Given the description of an element on the screen output the (x, y) to click on. 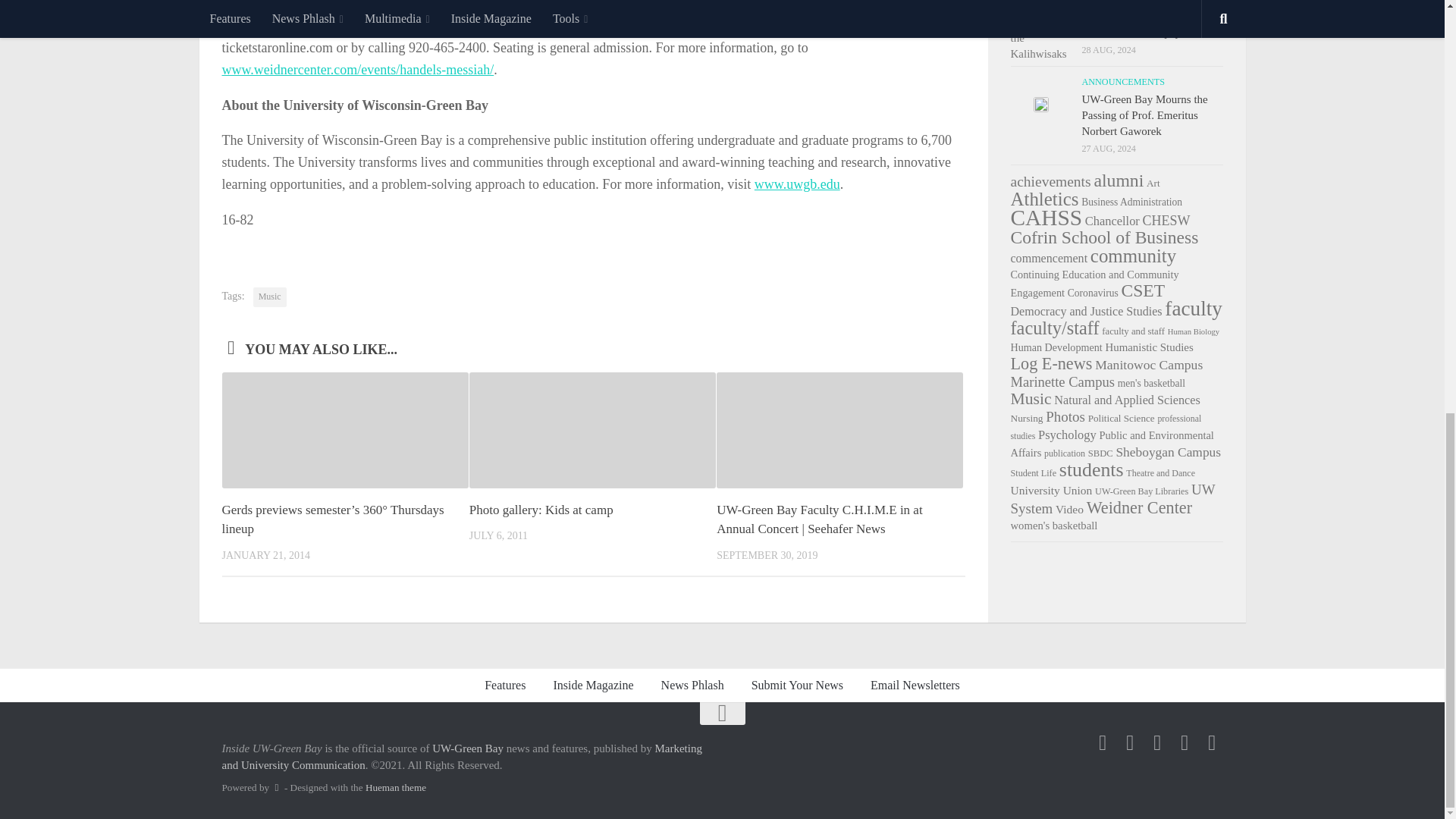
Music (269, 297)
www.uwgb.edu (797, 183)
Photo gallery: Kids at camp (540, 509)
